Given the description of an element on the screen output the (x, y) to click on. 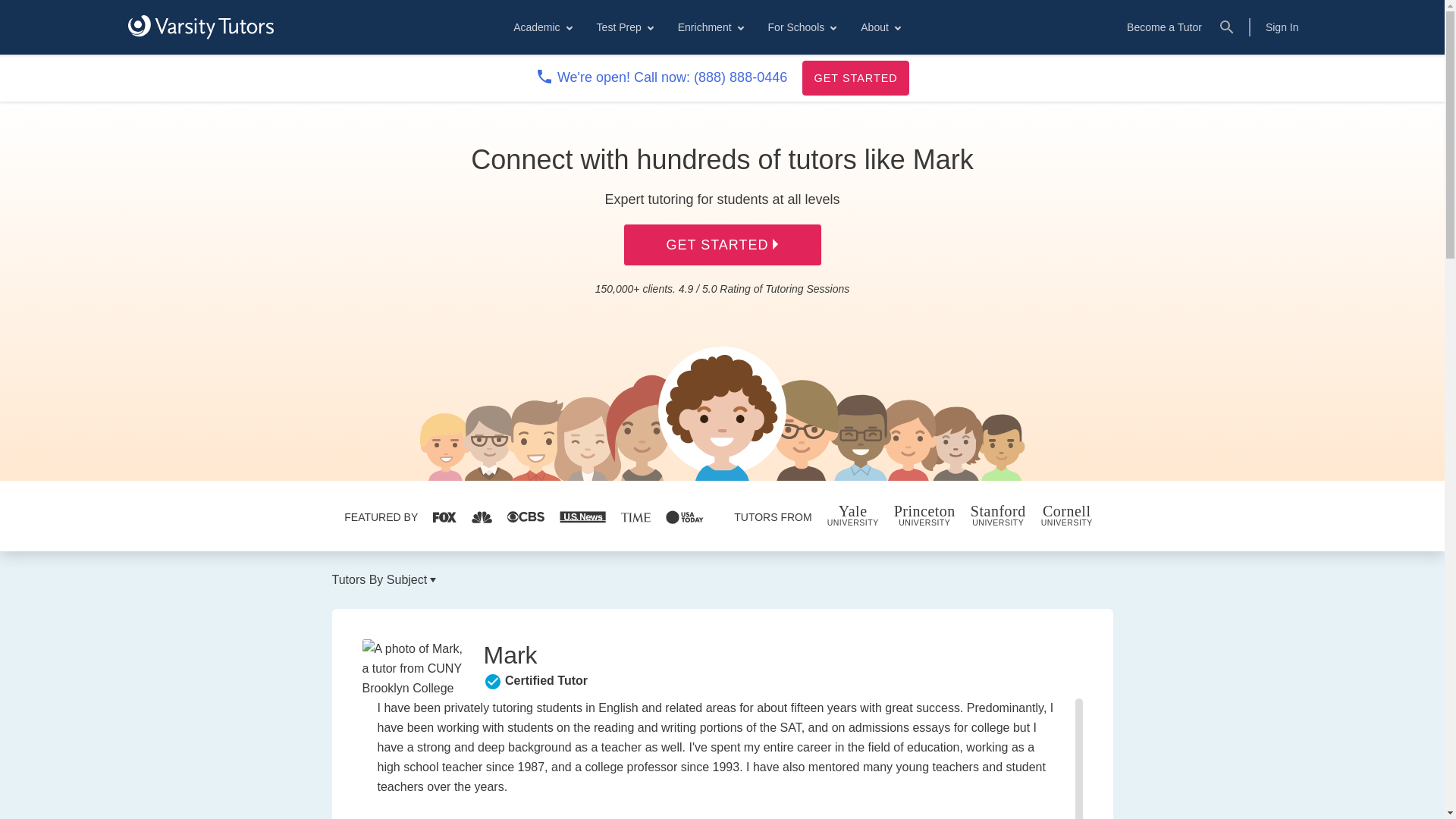
GET STARTED (855, 77)
Varsity Tutors (200, 26)
Academic (541, 27)
Varsity Tutors (200, 27)
